Given the description of an element on the screen output the (x, y) to click on. 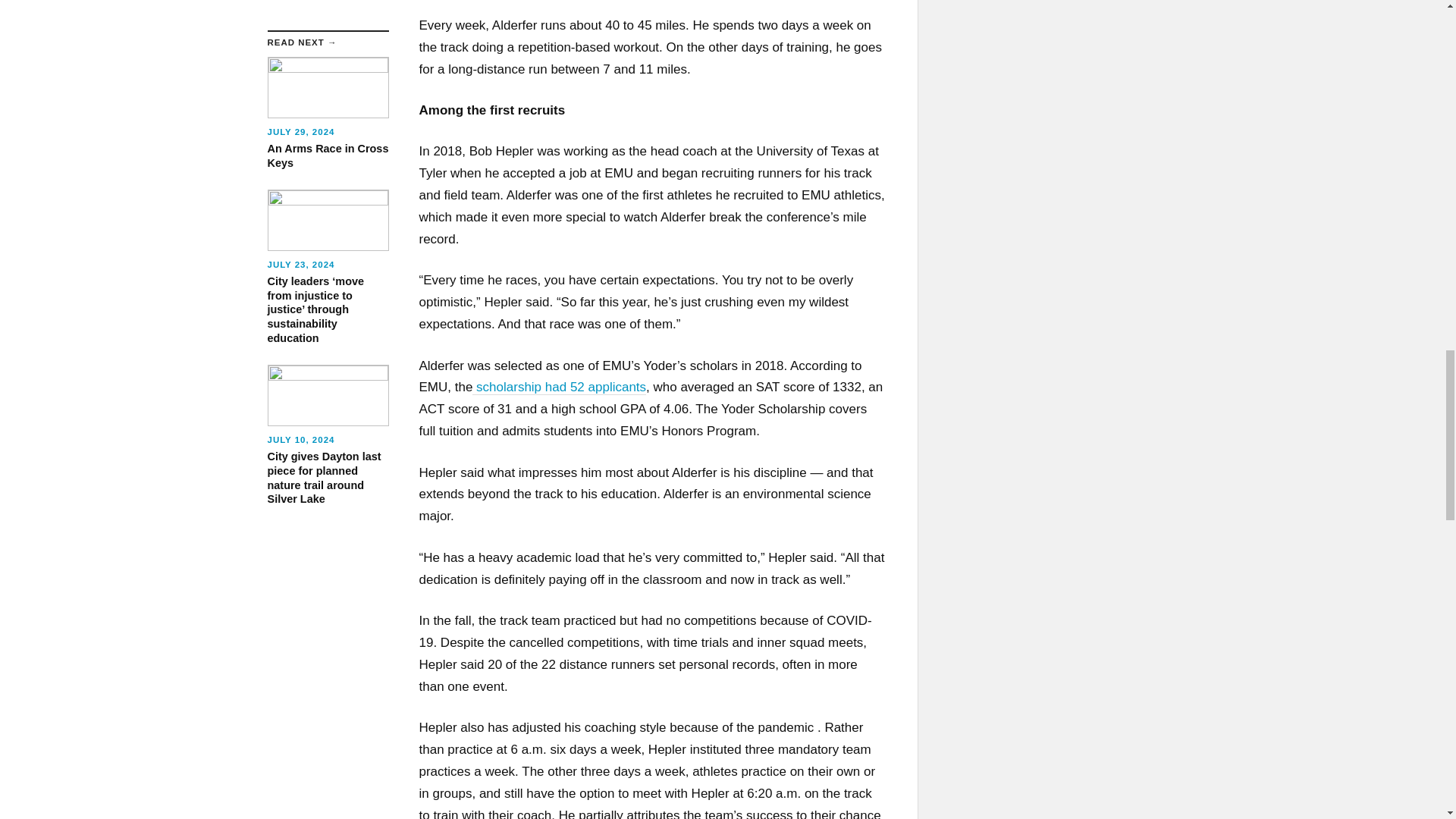
scholarship had 52 applicants (558, 387)
